Given the description of an element on the screen output the (x, y) to click on. 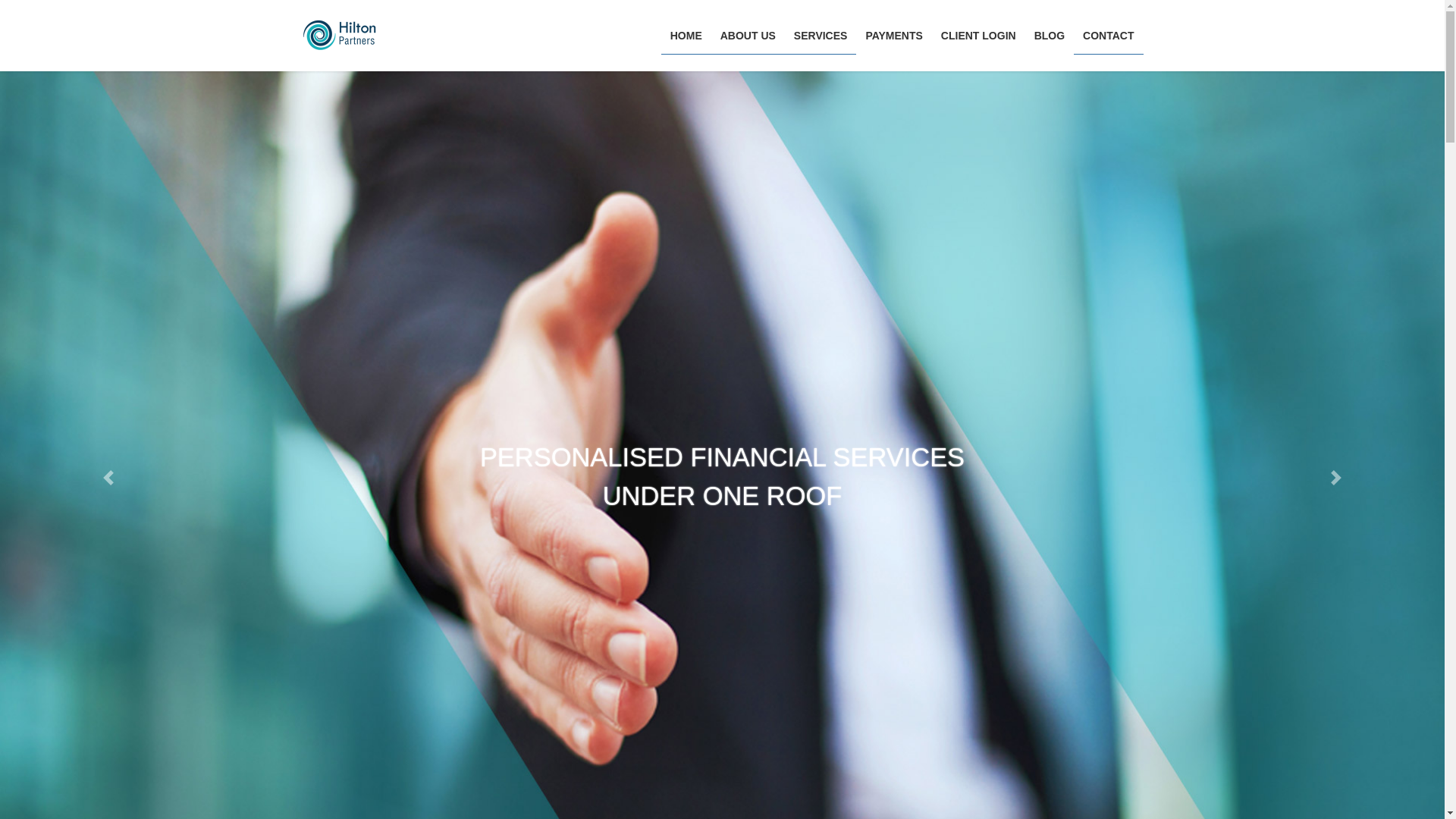
ABOUT US (747, 36)
PAYMENTS (893, 36)
CONTACT (1108, 36)
CLIENT LOGIN (978, 36)
SERVICES (820, 36)
BLOG (1049, 36)
HOME (686, 36)
